Given the description of an element on the screen output the (x, y) to click on. 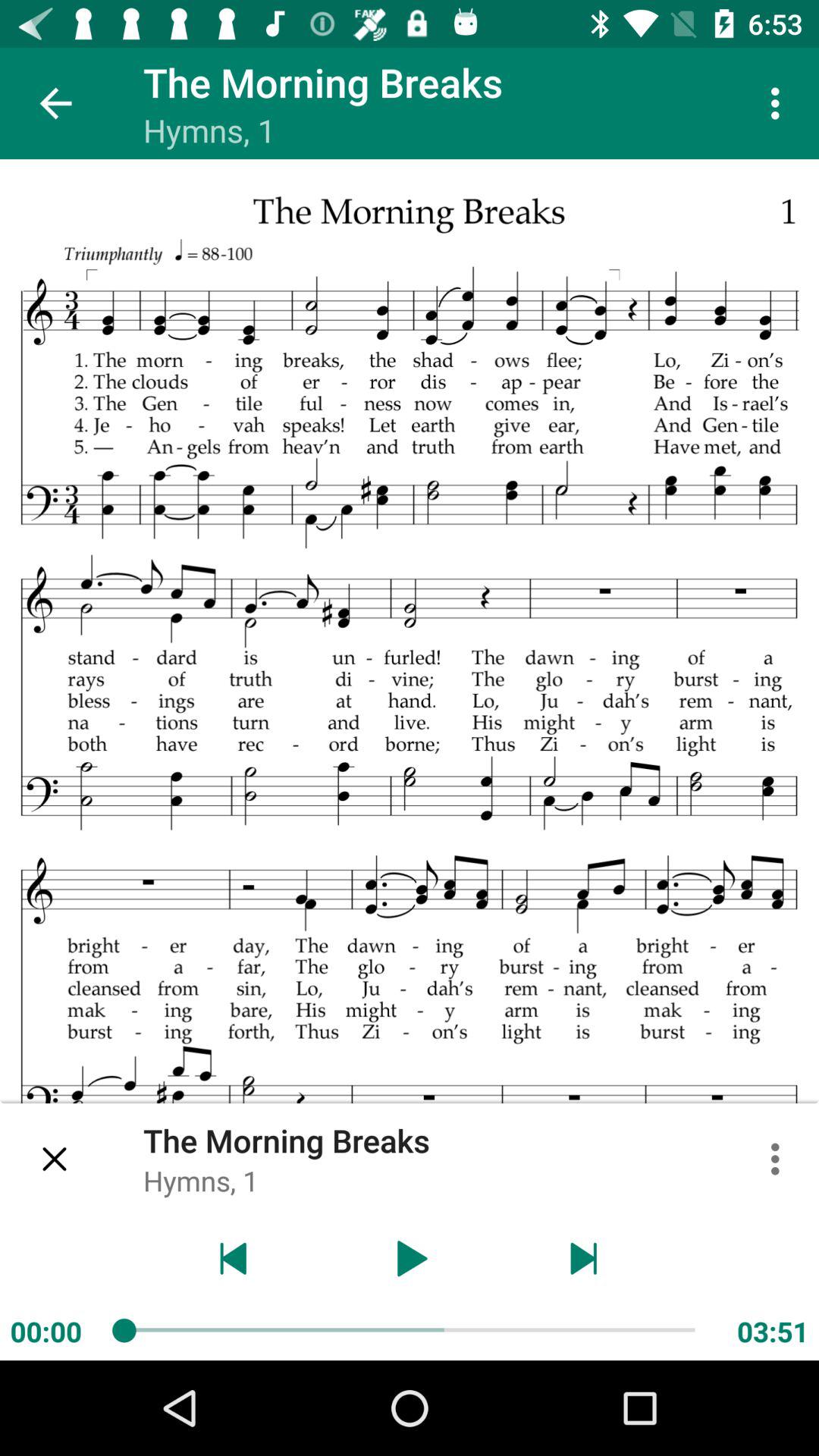
close the current song (55, 1158)
